Given the description of an element on the screen output the (x, y) to click on. 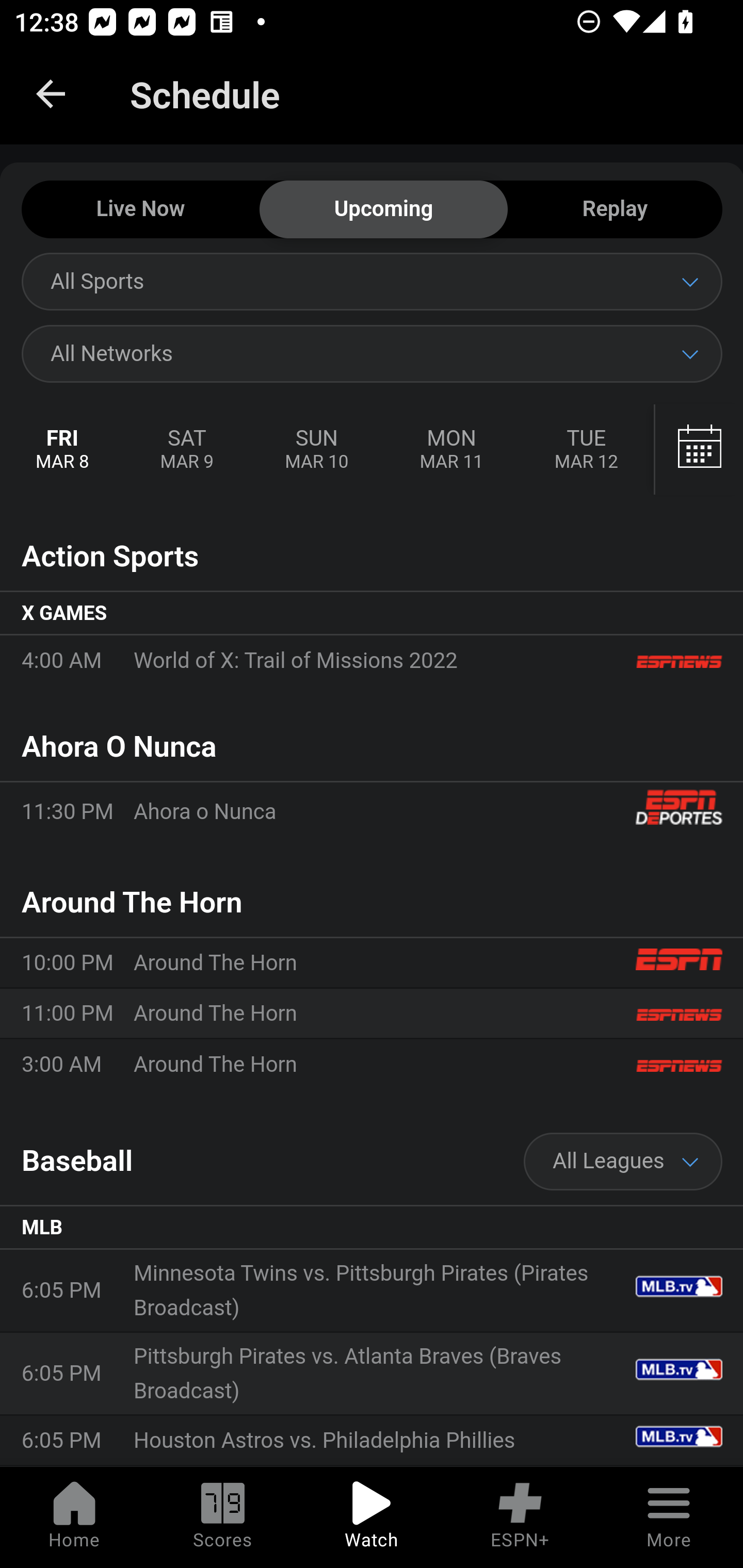
back.button (50, 93)
Live Now (140, 209)
Upcoming (382, 209)
Replay (614, 209)
All Sports (371, 281)
All Networks (371, 353)
FRI MAR 8 (63, 449)
SAT MAR 9 (186, 449)
SUN MAR 10 (316, 449)
MON MAR 11 (451, 449)
TUE MAR 12 (586, 449)
WED MAR 13 (697, 449)
All Leagues (622, 1161)
Home (74, 1517)
Scores (222, 1517)
ESPN+ (519, 1517)
More (668, 1517)
